Given the description of an element on the screen output the (x, y) to click on. 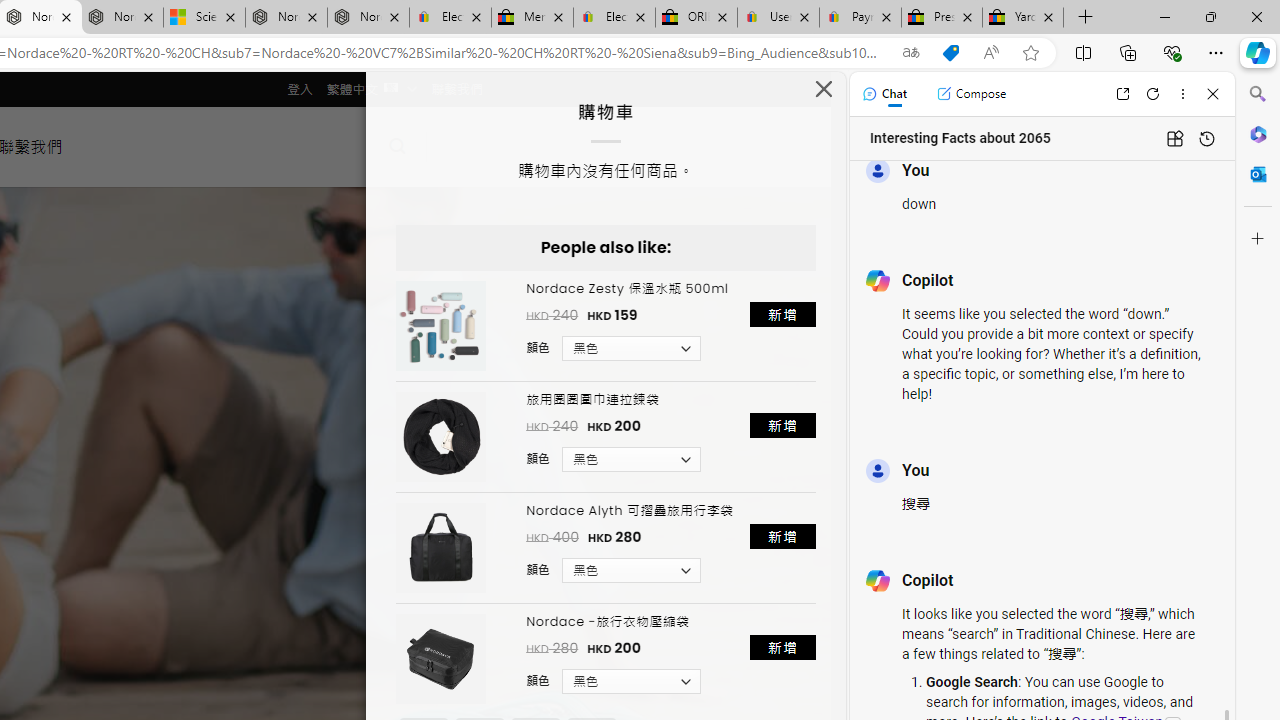
Class: feather feather-x (824, 88)
  0   (464, 146)
